Given the description of an element on the screen output the (x, y) to click on. 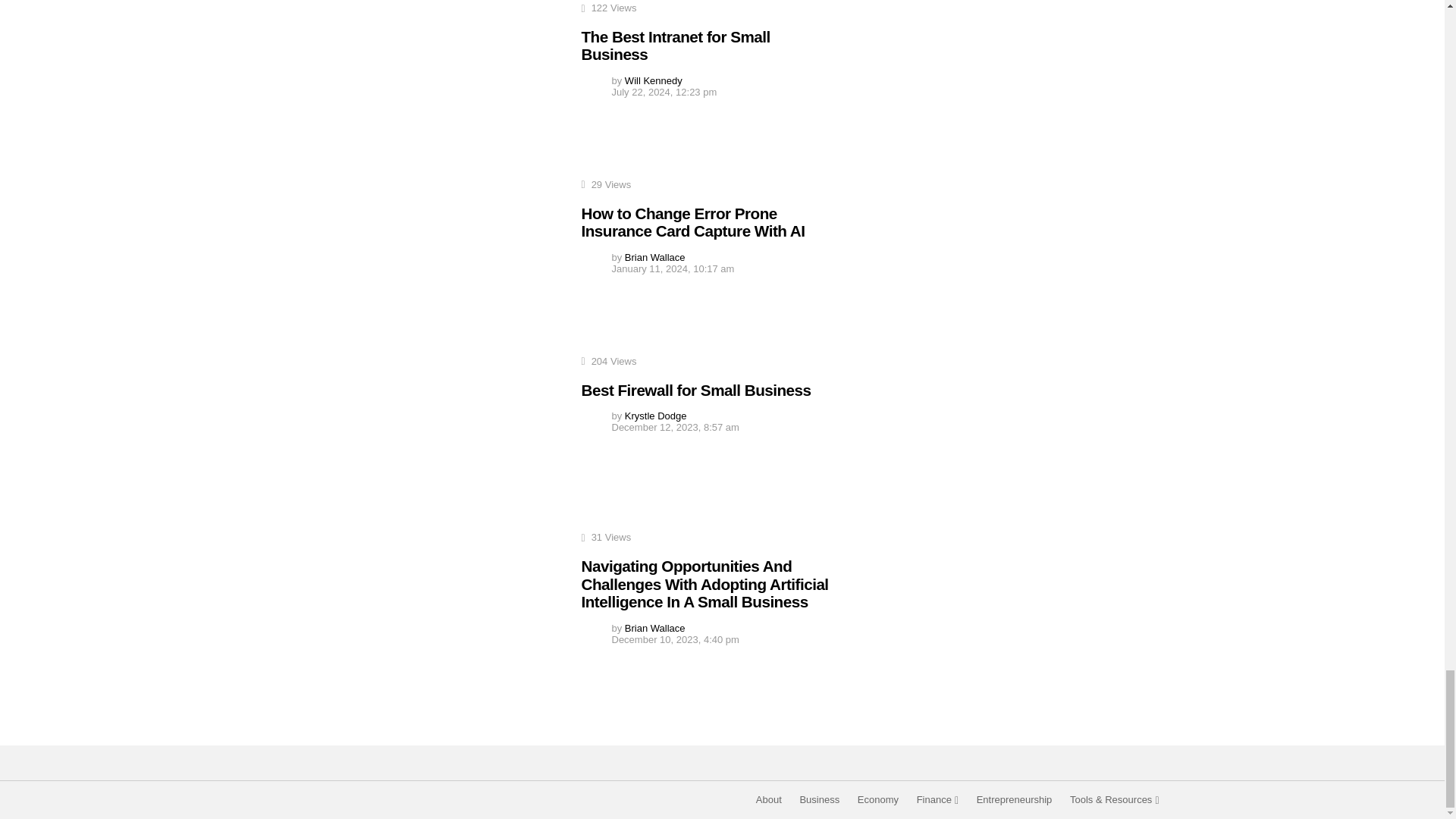
Posts by Brian Wallace (654, 256)
Posts by Will Kennedy (653, 80)
Posts by Krystle Dodge (655, 415)
Posts by Brian Wallace (654, 627)
